Given the description of an element on the screen output the (x, y) to click on. 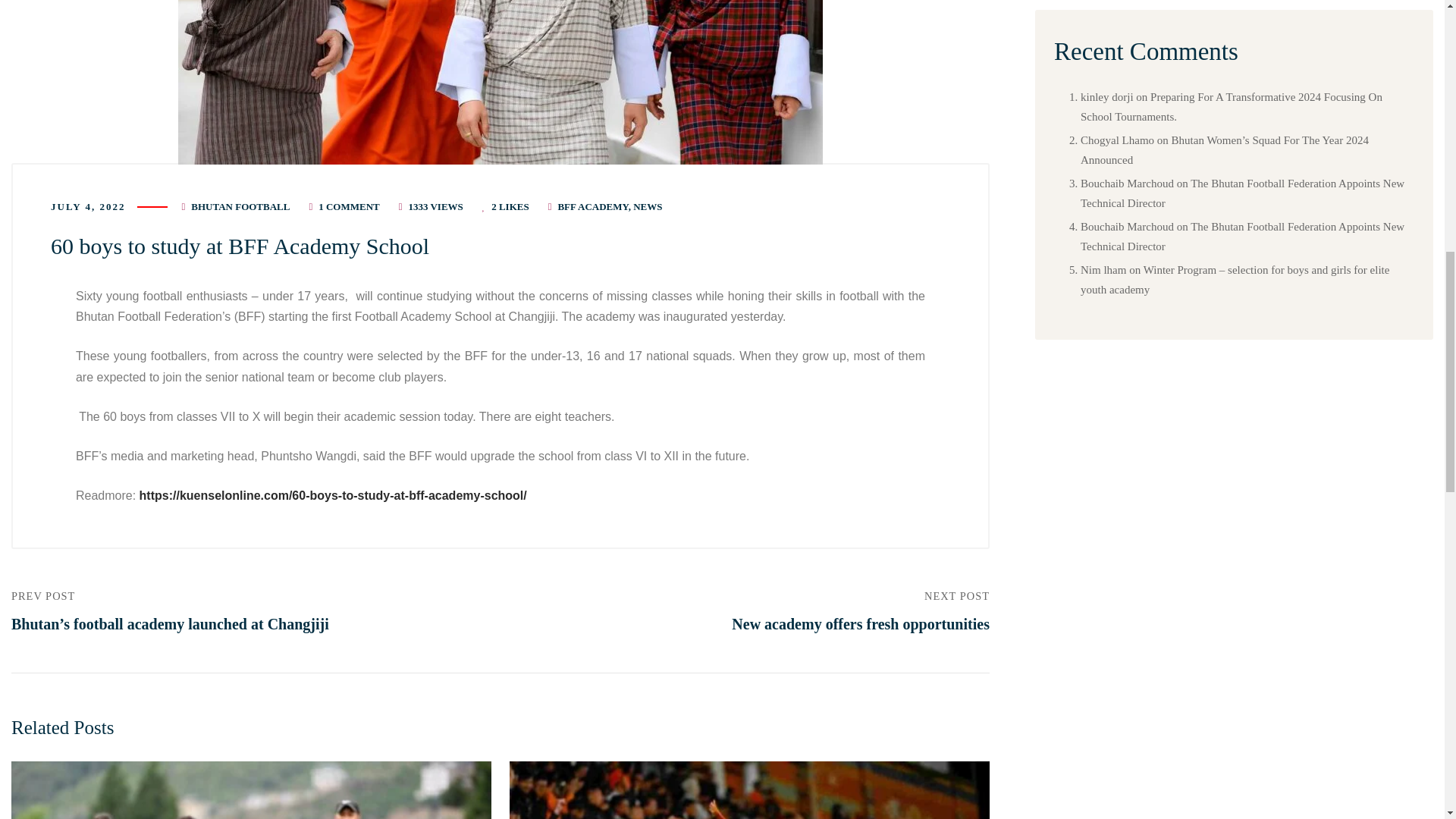
View all posts in News (647, 206)
View all posts in BFF Academy (592, 206)
